Given the description of an element on the screen output the (x, y) to click on. 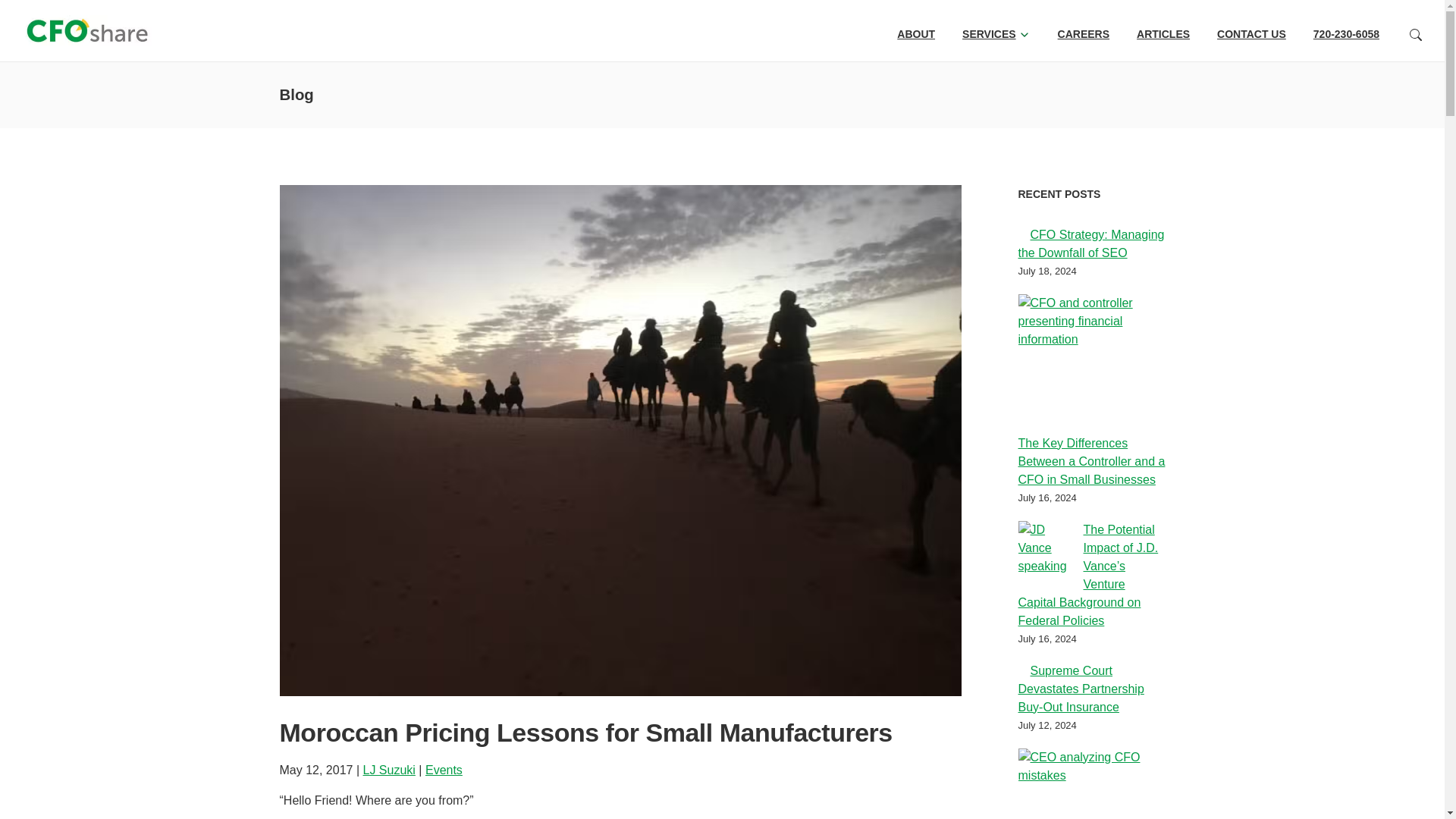
SERVICES (989, 33)
CONTACT US (1251, 33)
ABOUT (915, 33)
CAREERS (1083, 33)
ARTICLES (1163, 33)
720-230-6058 (1345, 33)
